Given the description of an element on the screen output the (x, y) to click on. 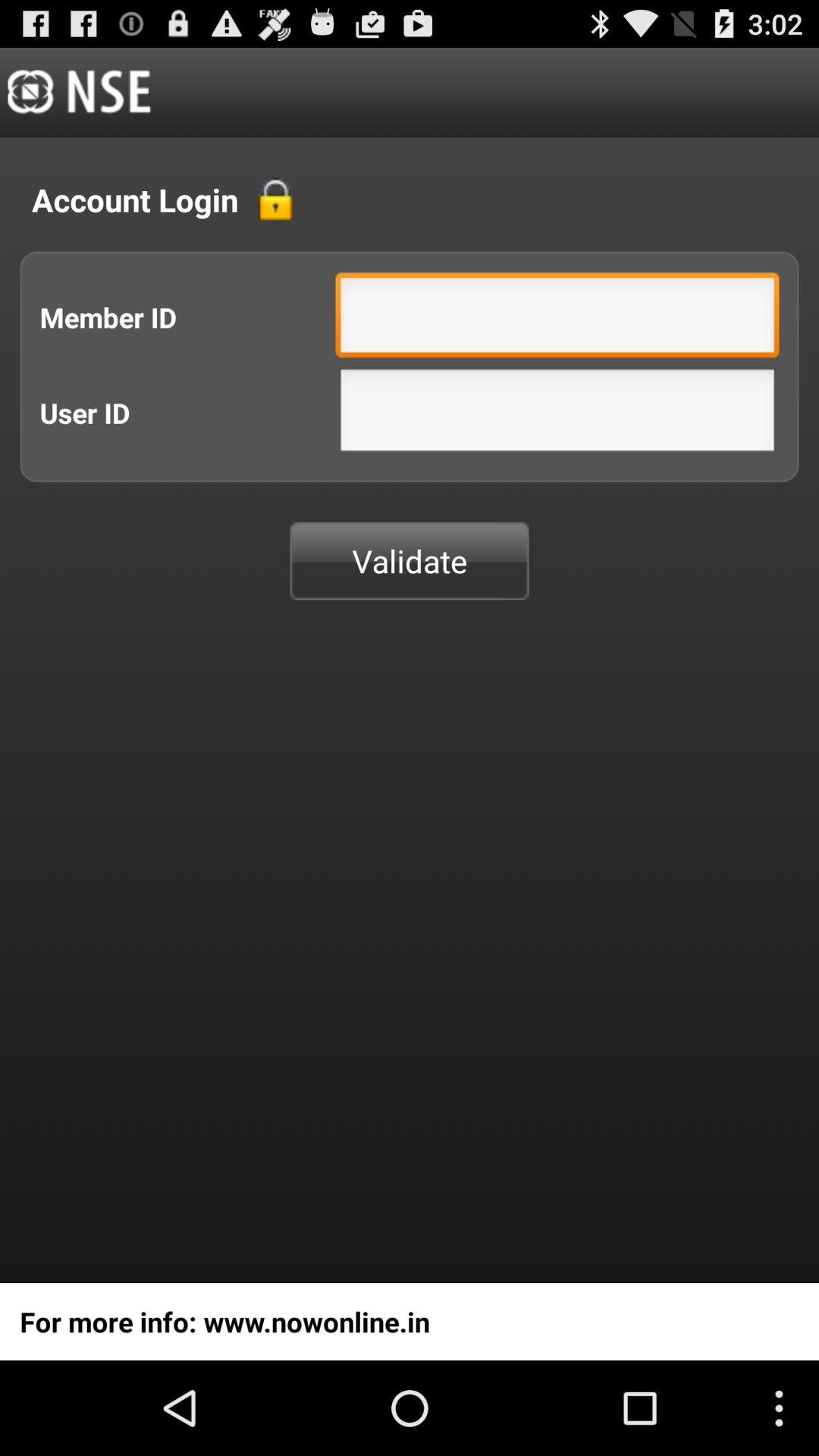
user id text box (557, 414)
